Given the description of an element on the screen output the (x, y) to click on. 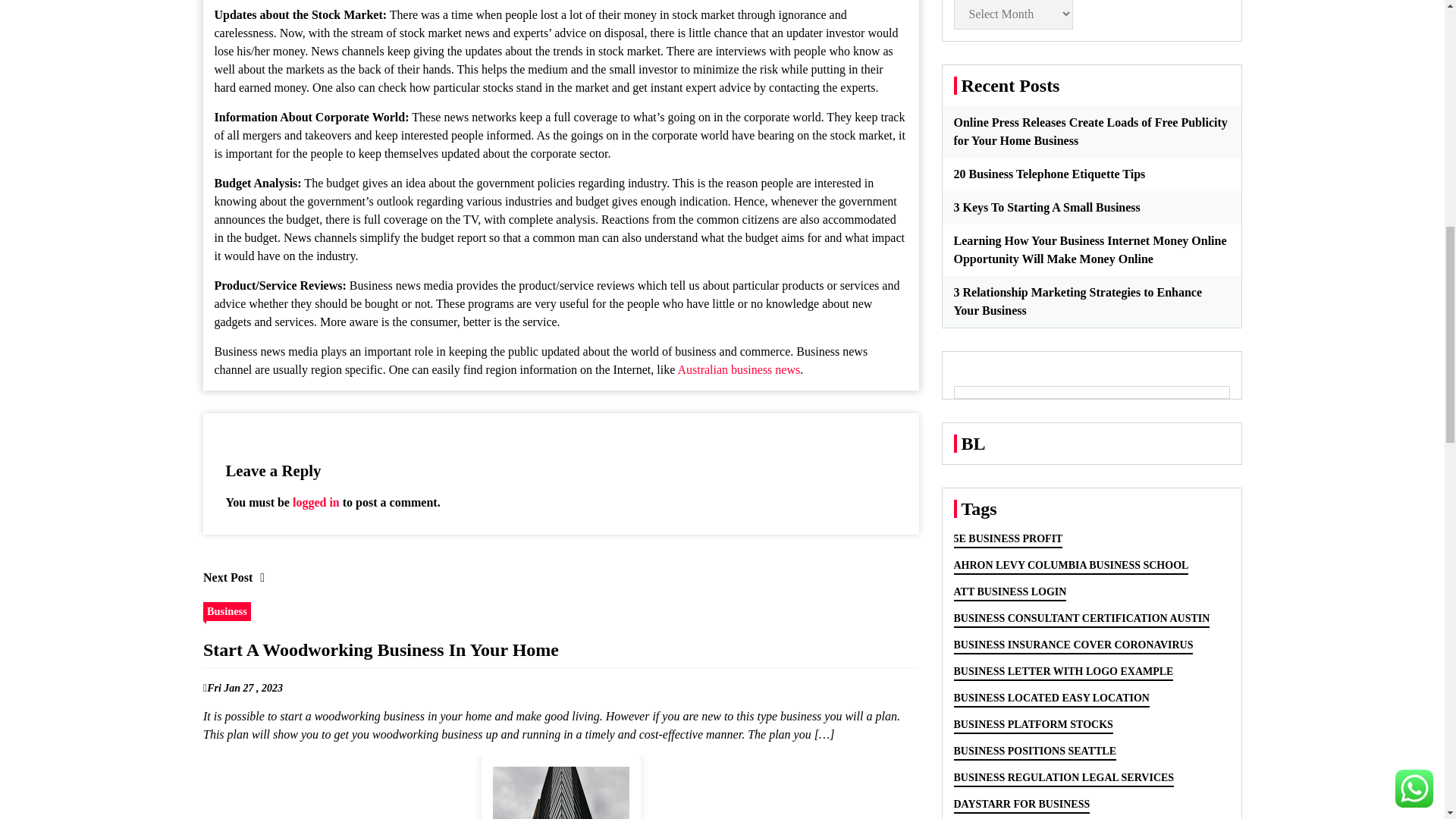
Start A Woodworking Business In Your Home (560, 787)
